Given the description of an element on the screen output the (x, y) to click on. 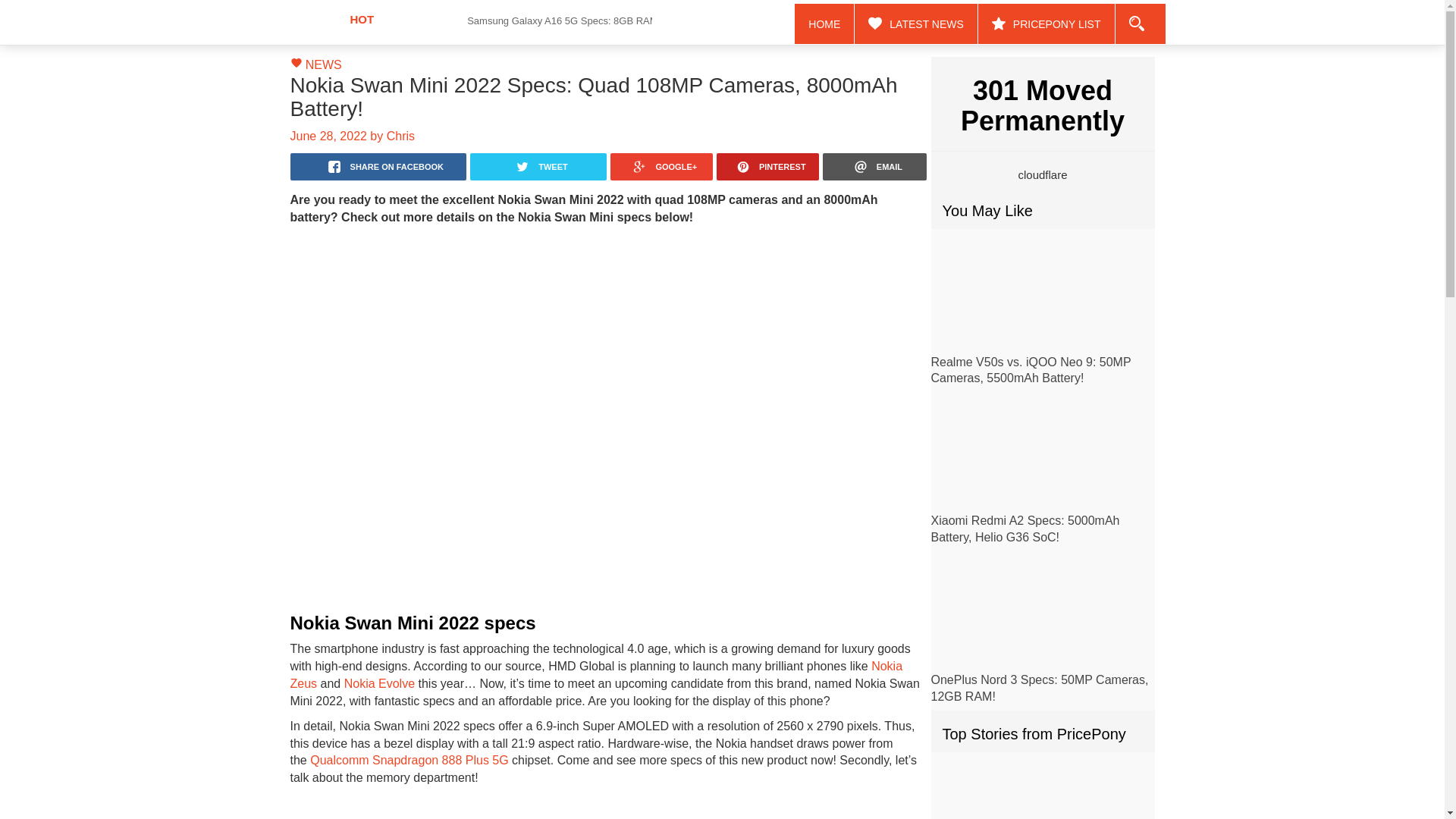
Realme V50s vs. iQOO Neo 9: 50MP Cameras, 5500mAh Battery! (1031, 369)
Qualcomm Snapdragon 888 Plus 5G (409, 759)
Xiaomi Redmi A2 Specs: 5000mAh Battery, Helio G36 SoC! (1042, 452)
PRICEPONY LIST (1046, 24)
OnePlus Nord 3 Specs: 50MP Cameras, 12GB RAM! (1039, 687)
View all posts in News (323, 64)
PINTEREST (767, 166)
twitter (538, 166)
HOME (824, 24)
